Given the description of an element on the screen output the (x, y) to click on. 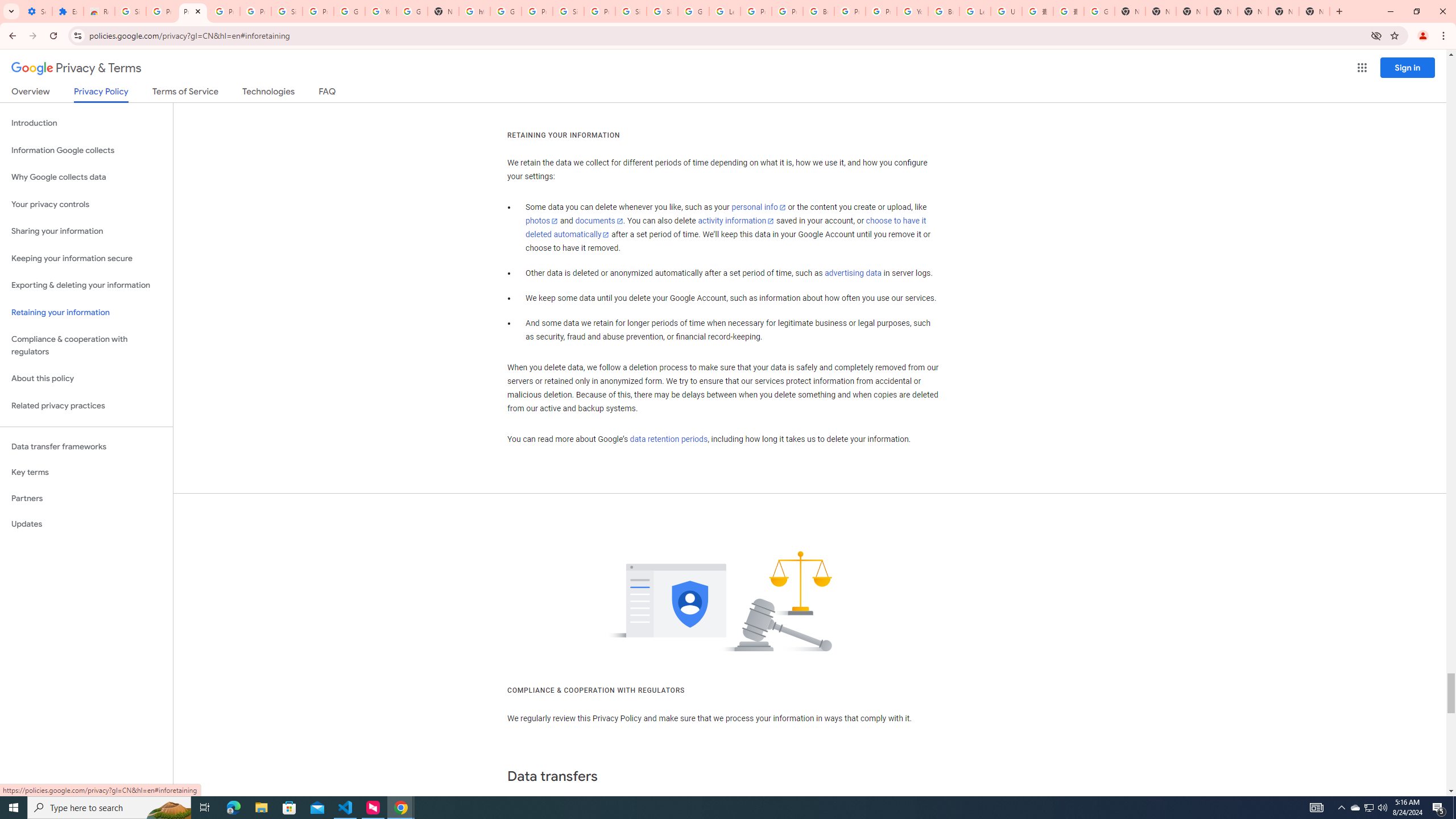
Privacy Help Center - Policies Help (756, 11)
New Tab (1222, 11)
Why Google collects data (86, 176)
Sharing your information (86, 230)
Information Google collects (86, 150)
Reviews: Helix Fruit Jump Arcade Game (98, 11)
data retention periods (667, 439)
